Given the description of an element on the screen output the (x, y) to click on. 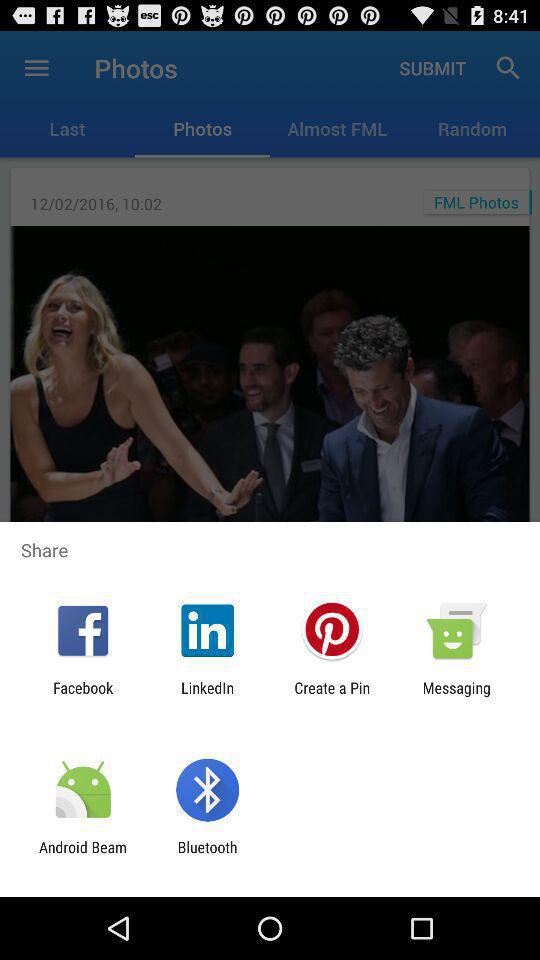
select the create a pin icon (332, 696)
